Given the description of an element on the screen output the (x, y) to click on. 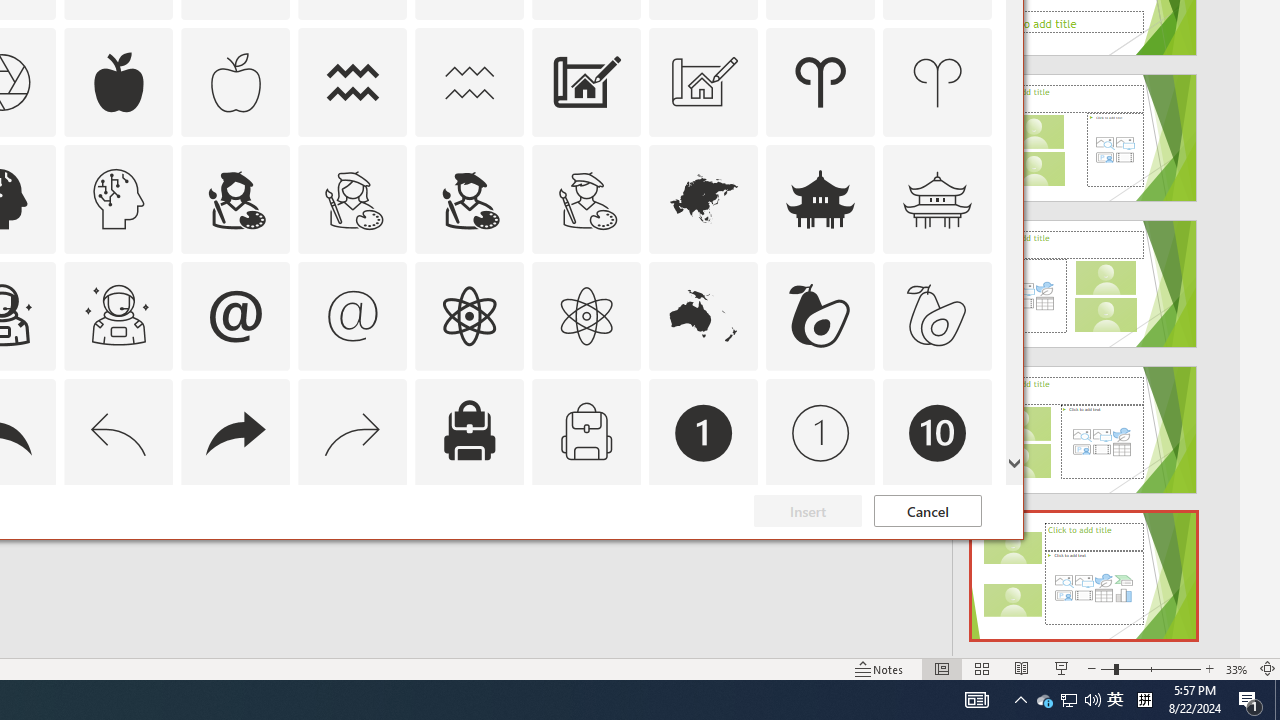
AutomationID: Icons_Aquarius_M (469, 82)
AutomationID: Icons_Back_LTR_M (118, 432)
AutomationID: Icons_At_M (353, 316)
AutomationID: Icons_Badge9 (820, 550)
AutomationID: Icons_Aries_M (938, 82)
